Given the description of an element on the screen output the (x, y) to click on. 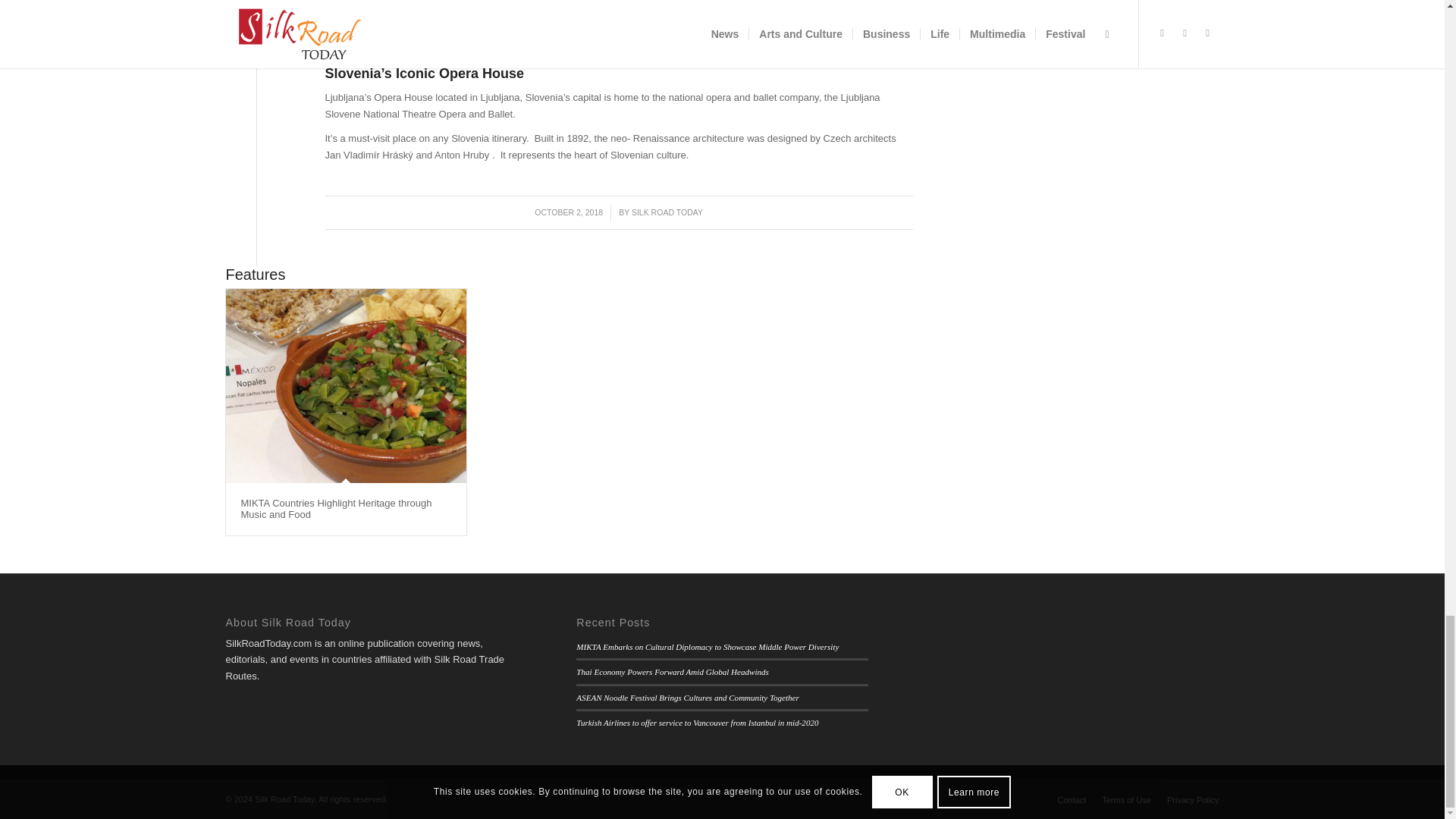
MIKTA Countries Highlight Heritage through Music and Food (336, 508)
Posts by Silk Road Today (667, 212)
SILK ROAD TODAY (667, 212)
Thai Economy Powers Forward Amid Global Headwinds (672, 671)
ASEAN Noodle Festival Brings Cultures and Community Together (686, 696)
MIKTA Countries Highlight Heritage through Music and Food (336, 508)
MIKTA Countries Highlight Heritage through Music and Food (345, 386)
